Given the description of an element on the screen output the (x, y) to click on. 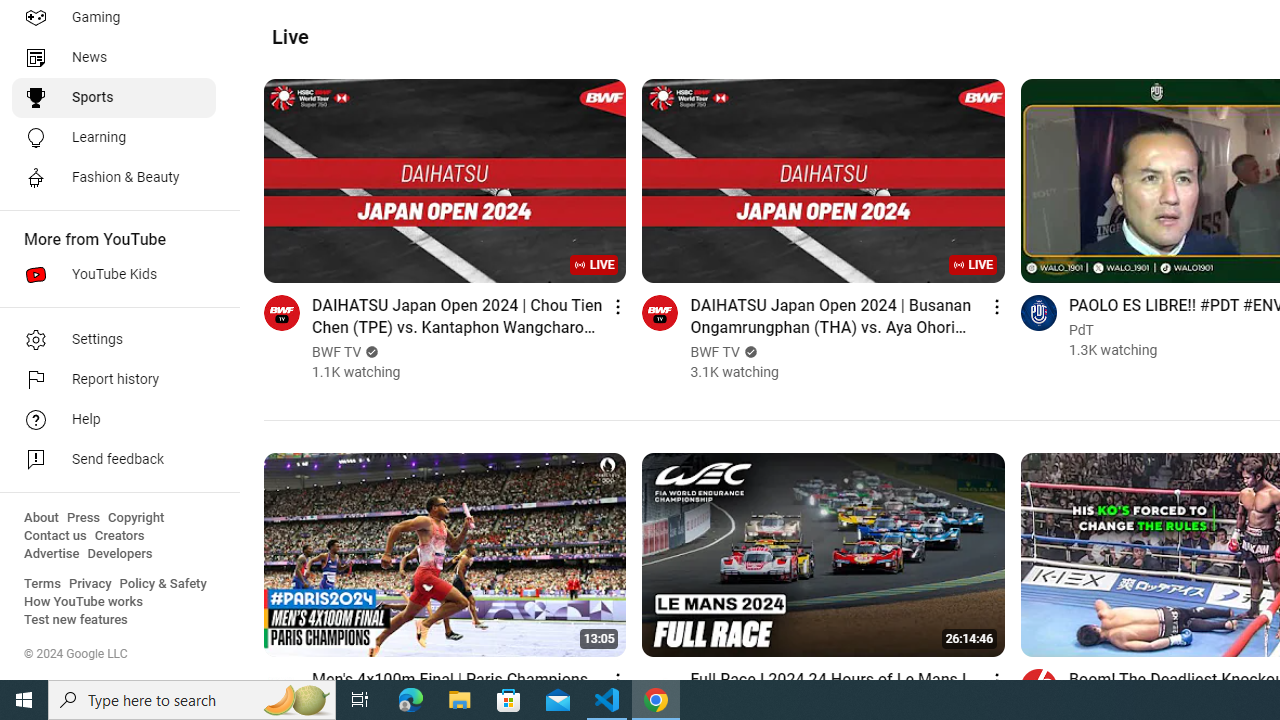
Terms (42, 584)
News (113, 57)
About (41, 518)
How YouTube works (83, 602)
Report history (113, 380)
Creators (118, 536)
BWF TV (715, 352)
Help (113, 419)
Fashion & Beauty (113, 177)
Live (289, 37)
Advertise (51, 554)
Policy & Safety (163, 584)
